Given the description of an element on the screen output the (x, y) to click on. 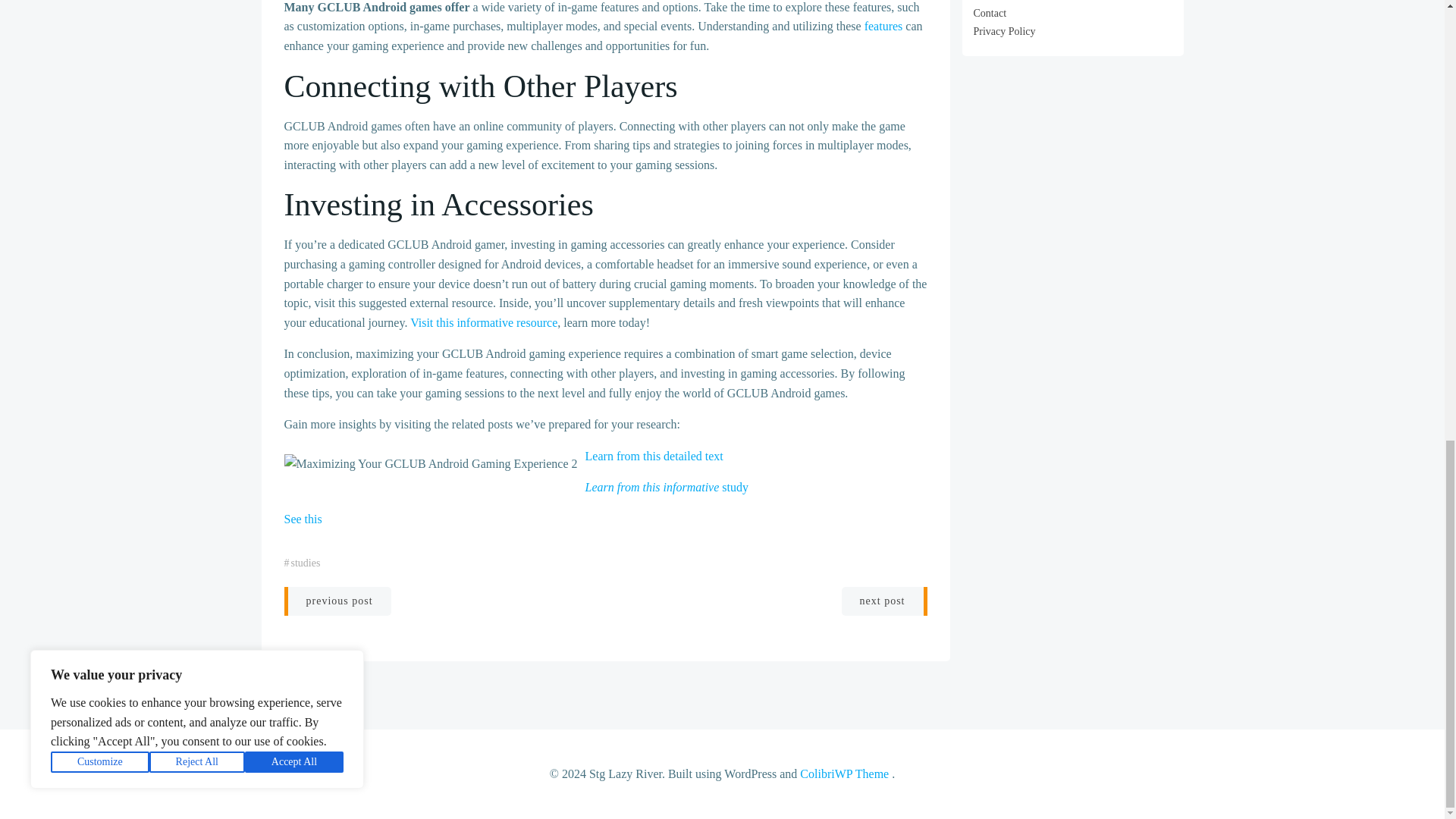
Visit this informative resource (483, 322)
Tag: Studies (305, 562)
studies (305, 562)
See this (302, 518)
features (883, 25)
previous post (336, 601)
next post (884, 601)
Learn from this detailed text (654, 455)
Learn from this informative study (666, 486)
